Given the description of an element on the screen output the (x, y) to click on. 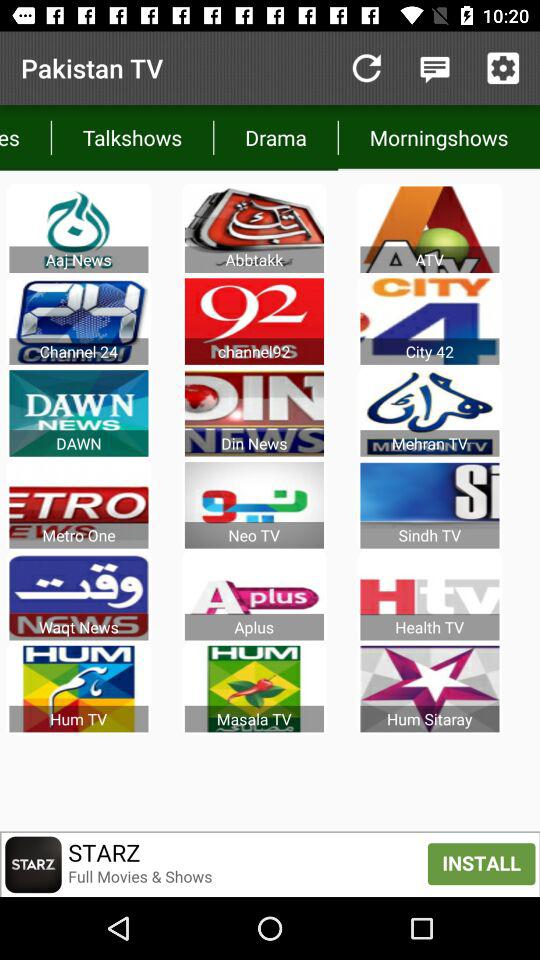
open a chat (434, 67)
